Given the description of an element on the screen output the (x, y) to click on. 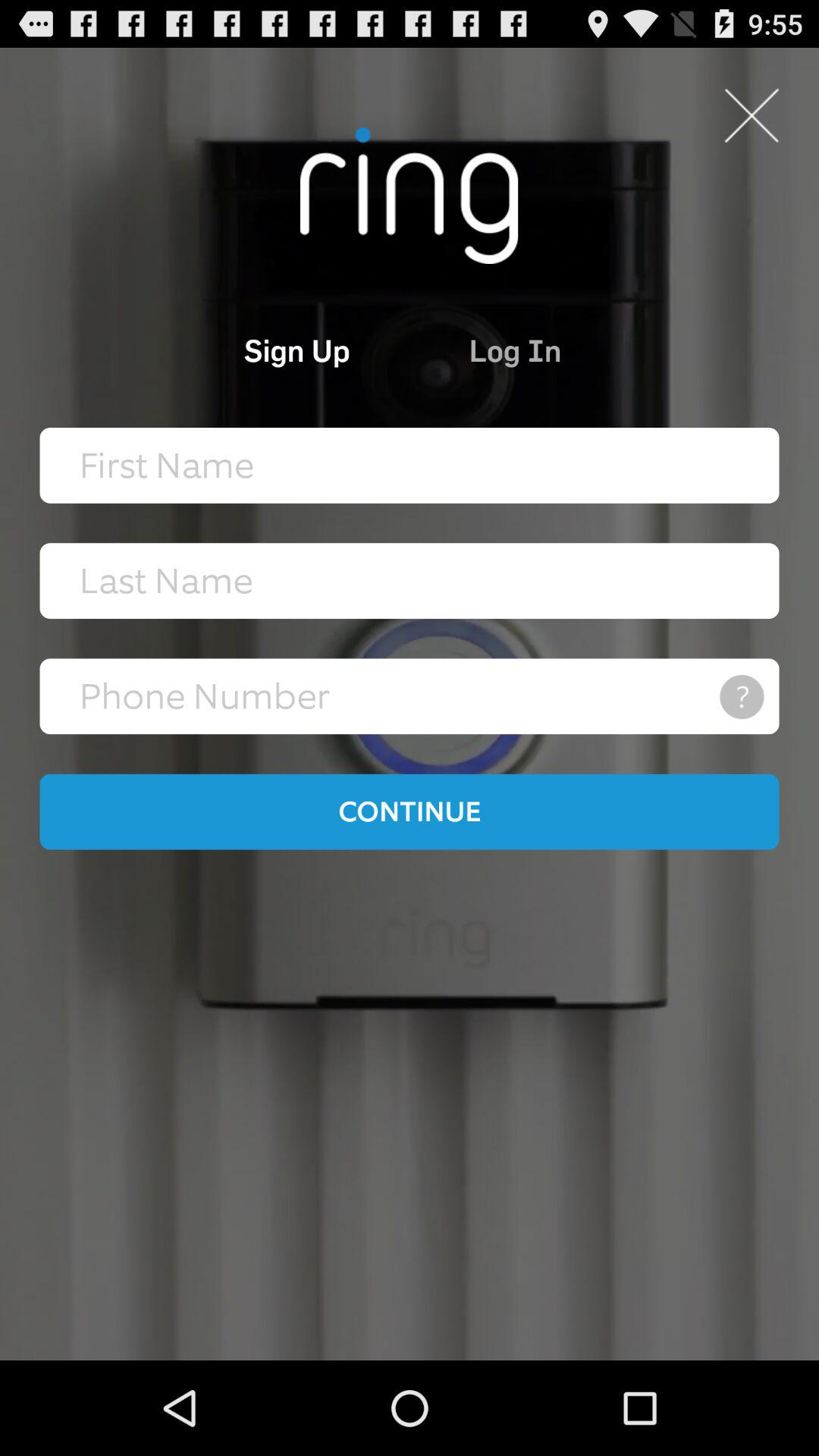
click the item next to log in item (234, 349)
